Given the description of an element on the screen output the (x, y) to click on. 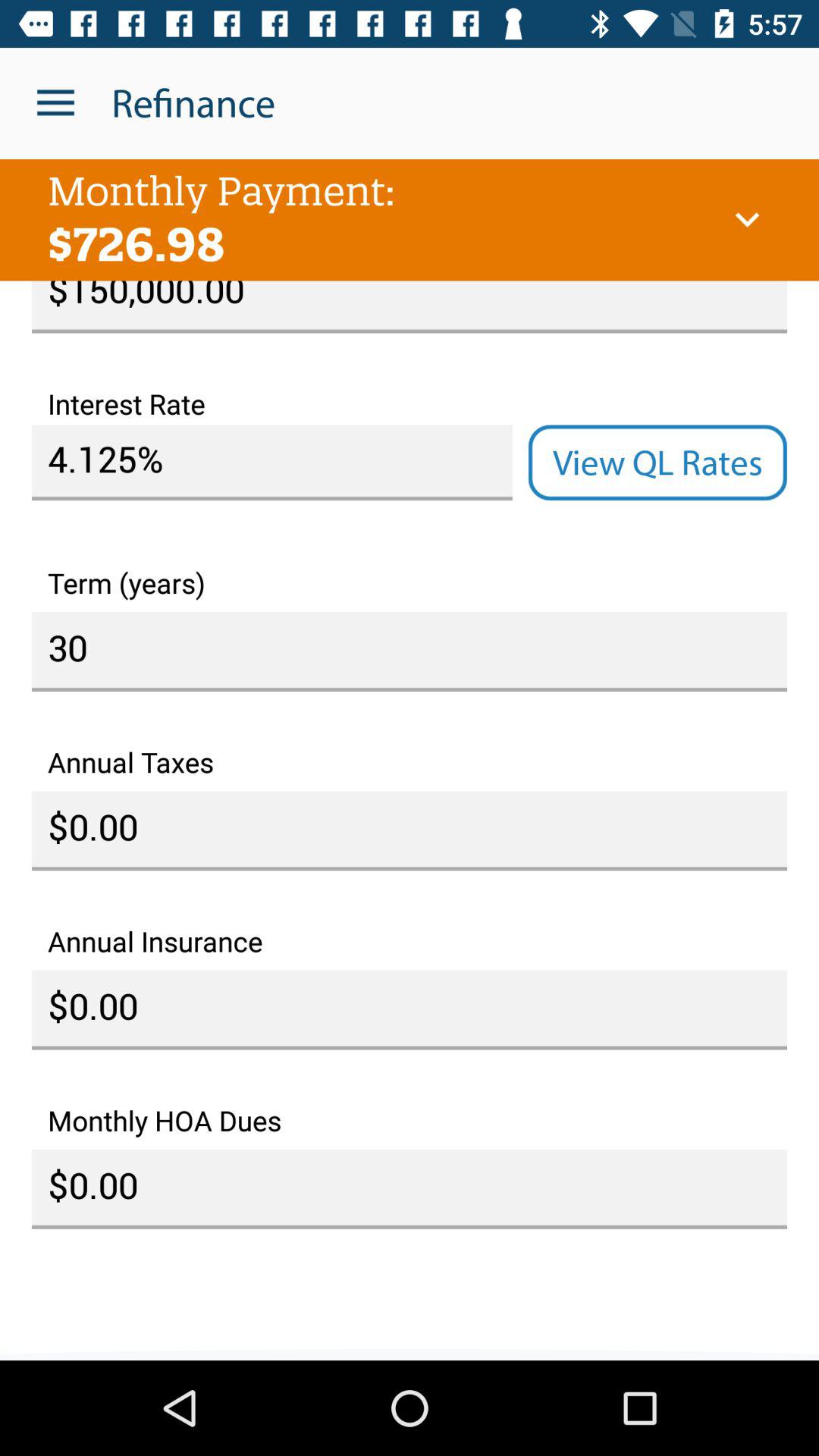
choose icon to the right of the 4.125% icon (657, 462)
